Given the description of an element on the screen output the (x, y) to click on. 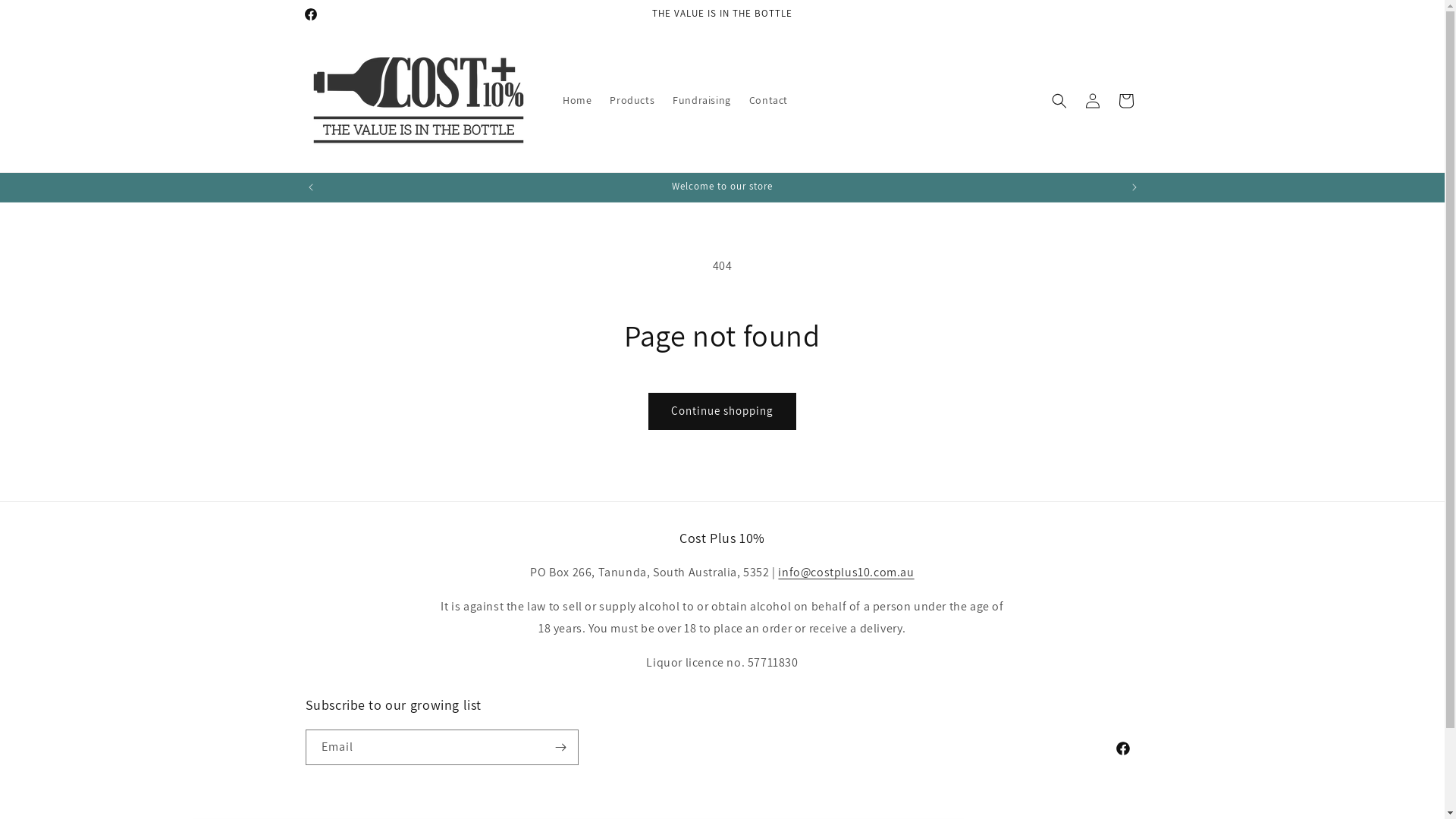
Fundraising Element type: text (701, 100)
Facebook Element type: text (309, 14)
Products Element type: text (631, 100)
Log in Element type: text (1091, 99)
Facebook Element type: text (1122, 748)
Continue shopping Element type: text (722, 410)
Cart Element type: text (1125, 99)
Home Element type: text (576, 100)
Contact Element type: text (768, 100)
info@costplus10.com.au Element type: text (845, 572)
